Given the description of an element on the screen output the (x, y) to click on. 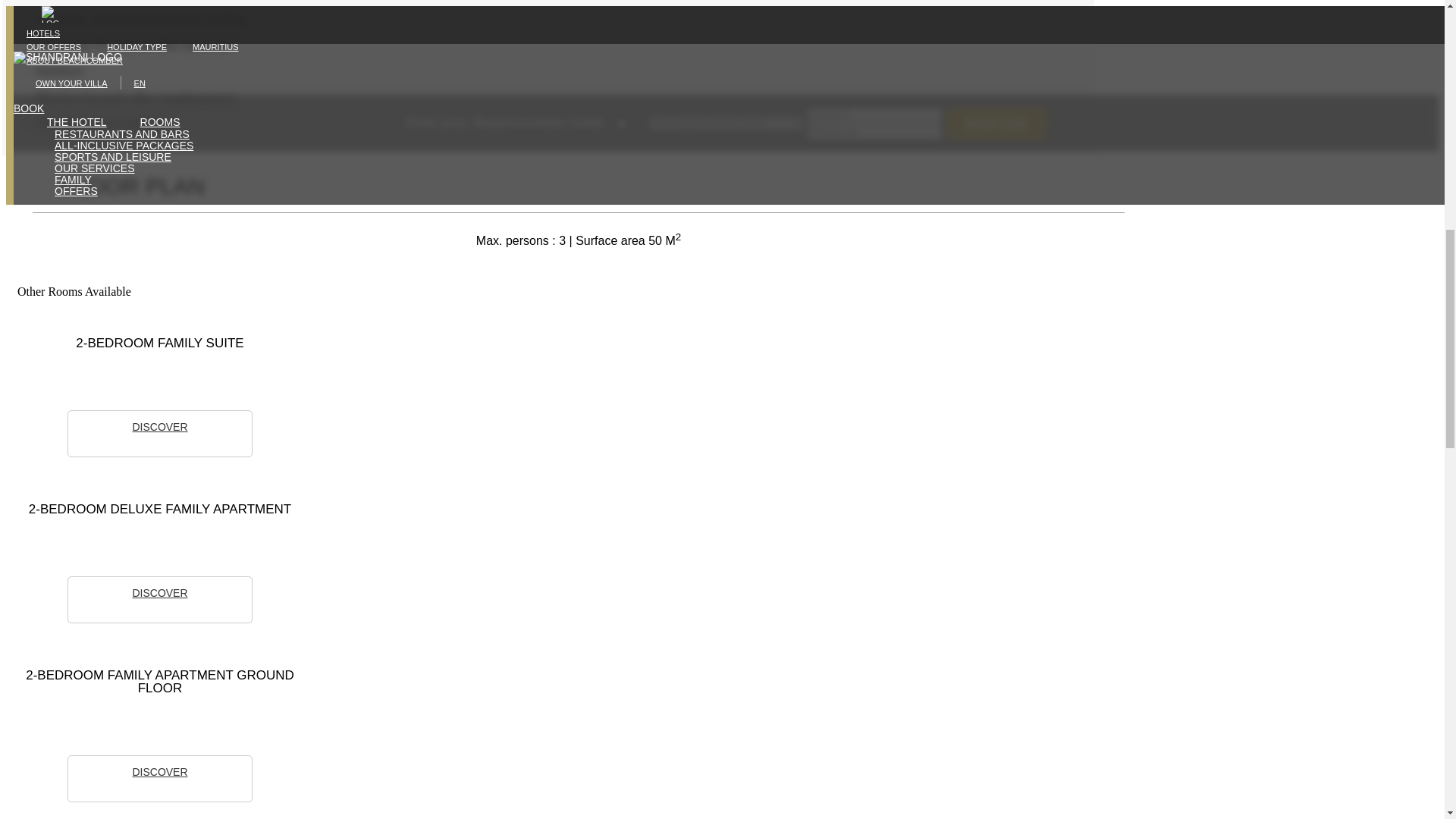
DISCOVER (158, 433)
DISCOVER (158, 599)
DISCOVER (158, 778)
